Given the description of an element on the screen output the (x, y) to click on. 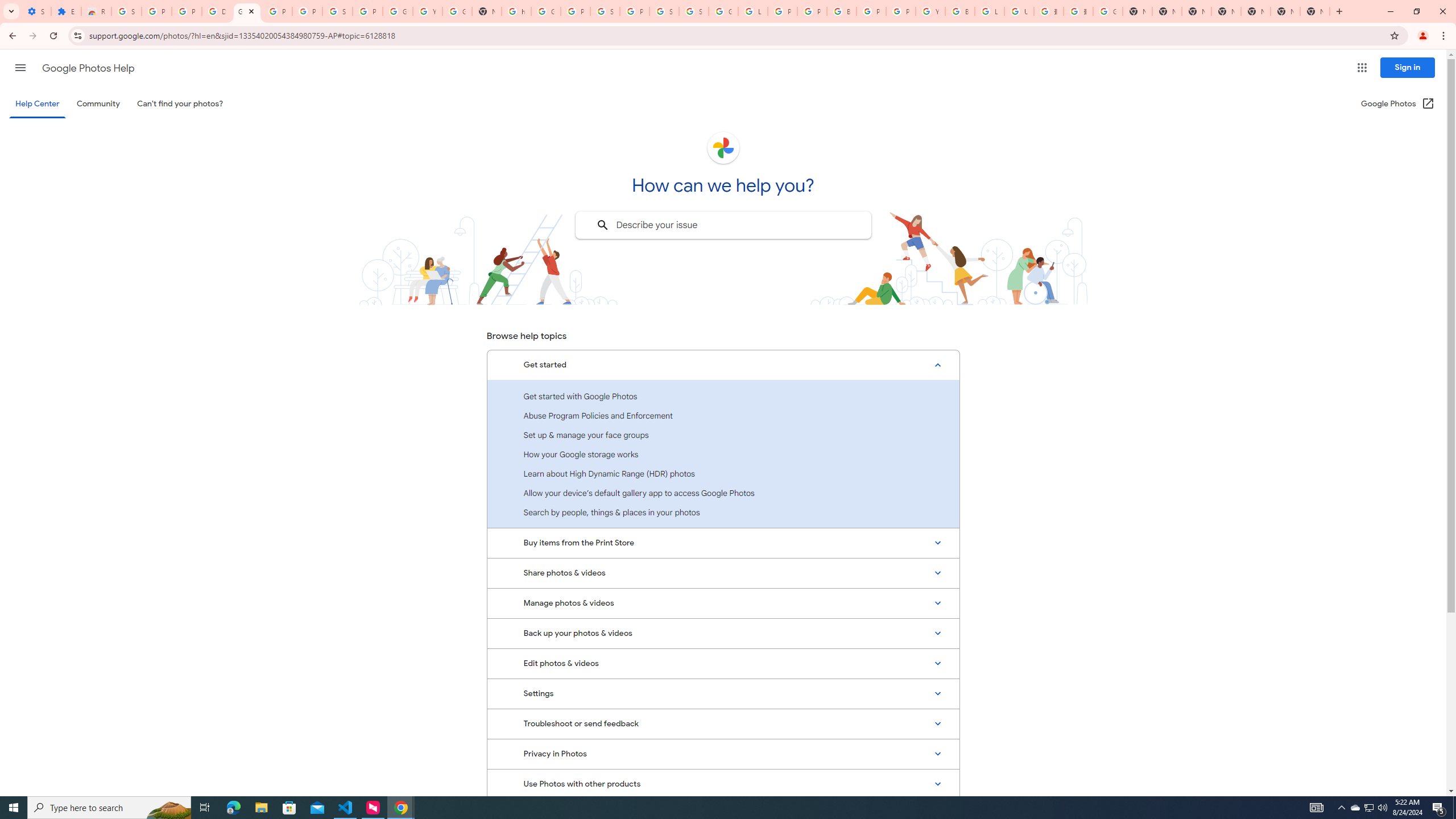
Use Photos with other products (722, 784)
Back up your photos & videos (722, 633)
Privacy Help Center - Policies Help (811, 11)
Can't find your photos? (180, 103)
YouTube (930, 11)
Main menu (20, 67)
